Given the description of an element on the screen output the (x, y) to click on. 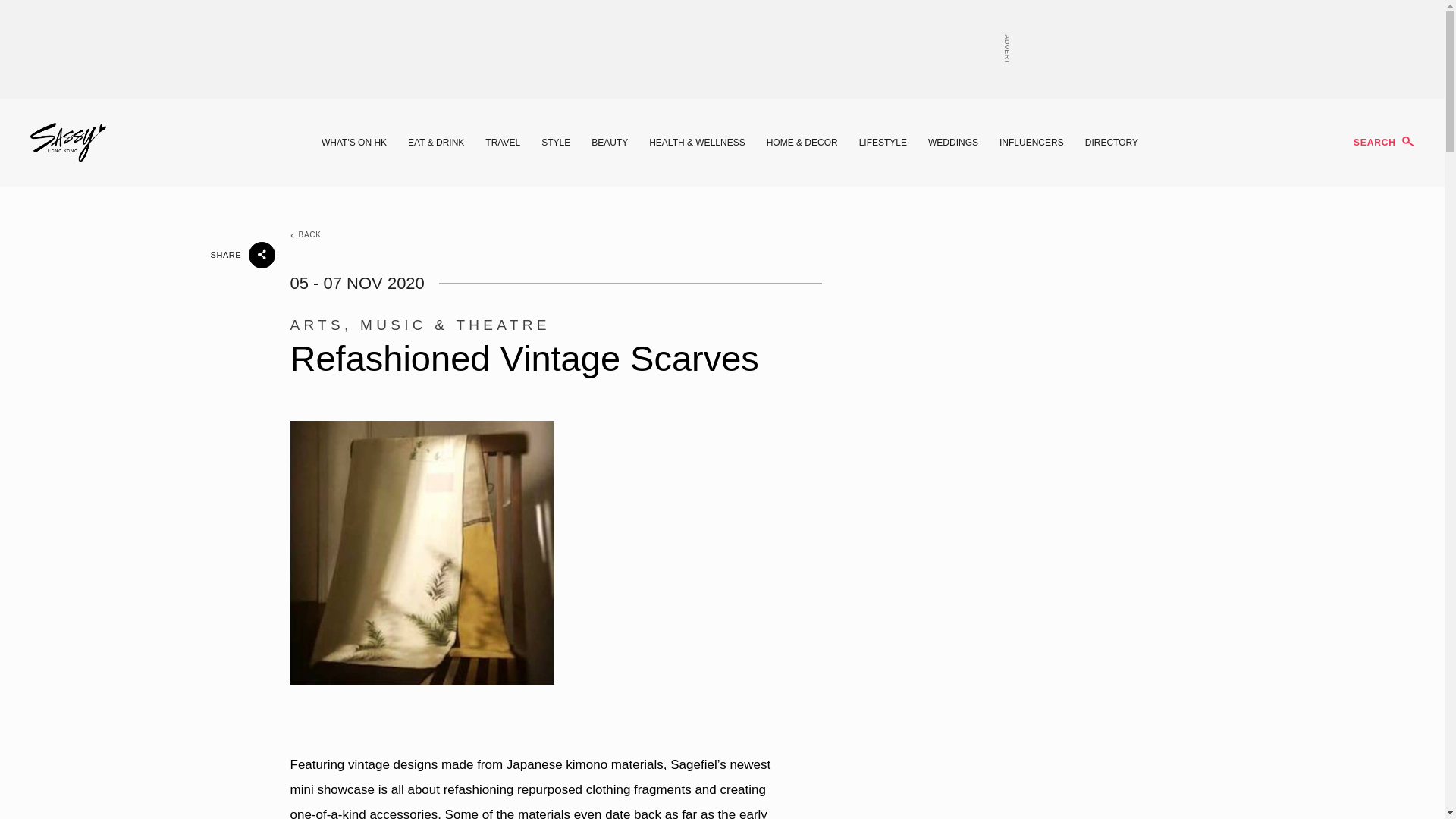
3rd party ad content (721, 49)
WHAT'S ON HK (354, 142)
TRAVEL (501, 142)
Sassy Hong Kong (68, 142)
